Given the description of an element on the screen output the (x, y) to click on. 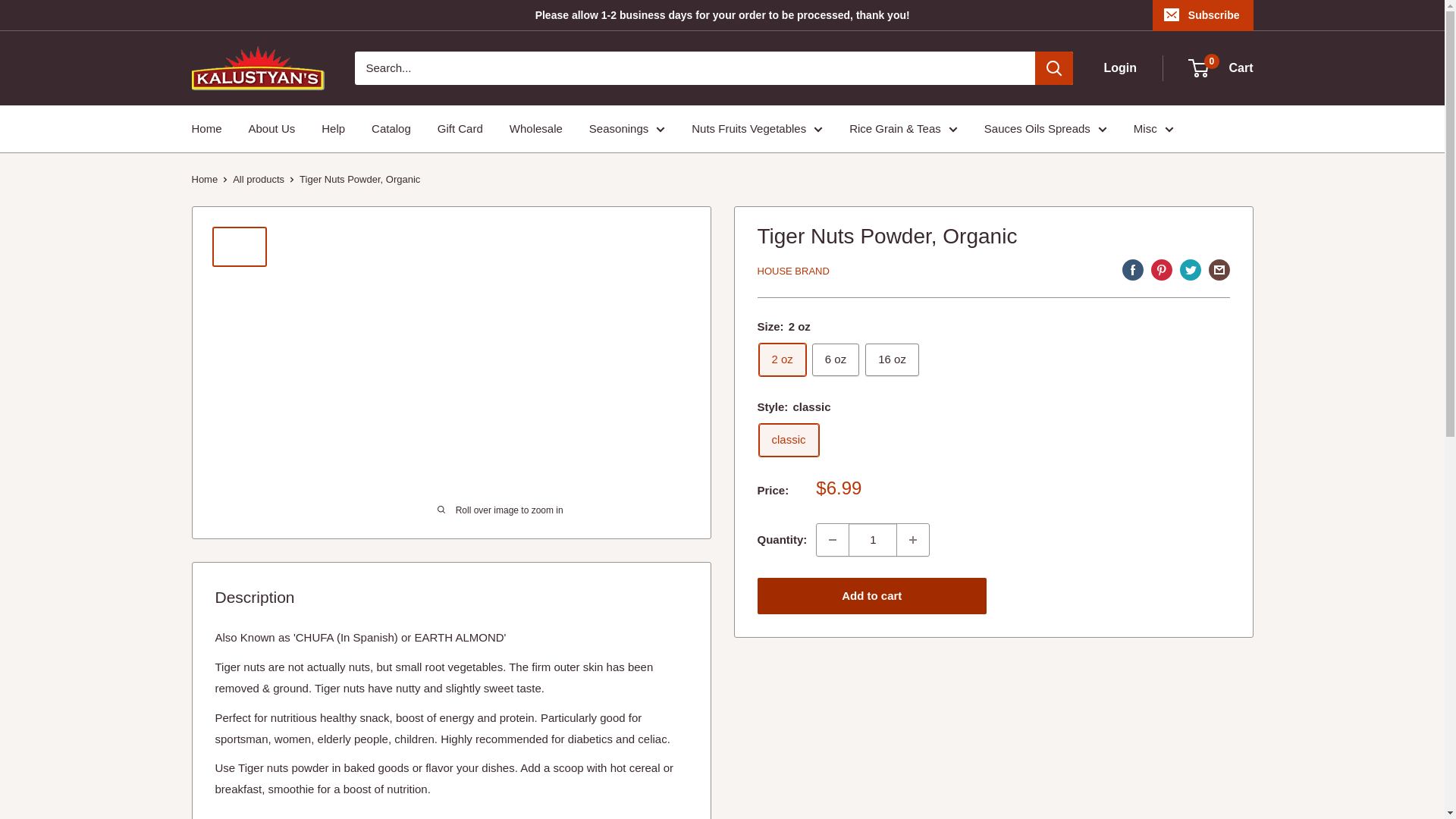
6 oz (835, 359)
1 (872, 540)
classic (788, 440)
2 oz (781, 359)
16 oz (891, 359)
Subscribe (1203, 15)
Decrease quantity by 1 (832, 540)
Increase quantity by 1 (912, 540)
